Given the description of an element on the screen output the (x, y) to click on. 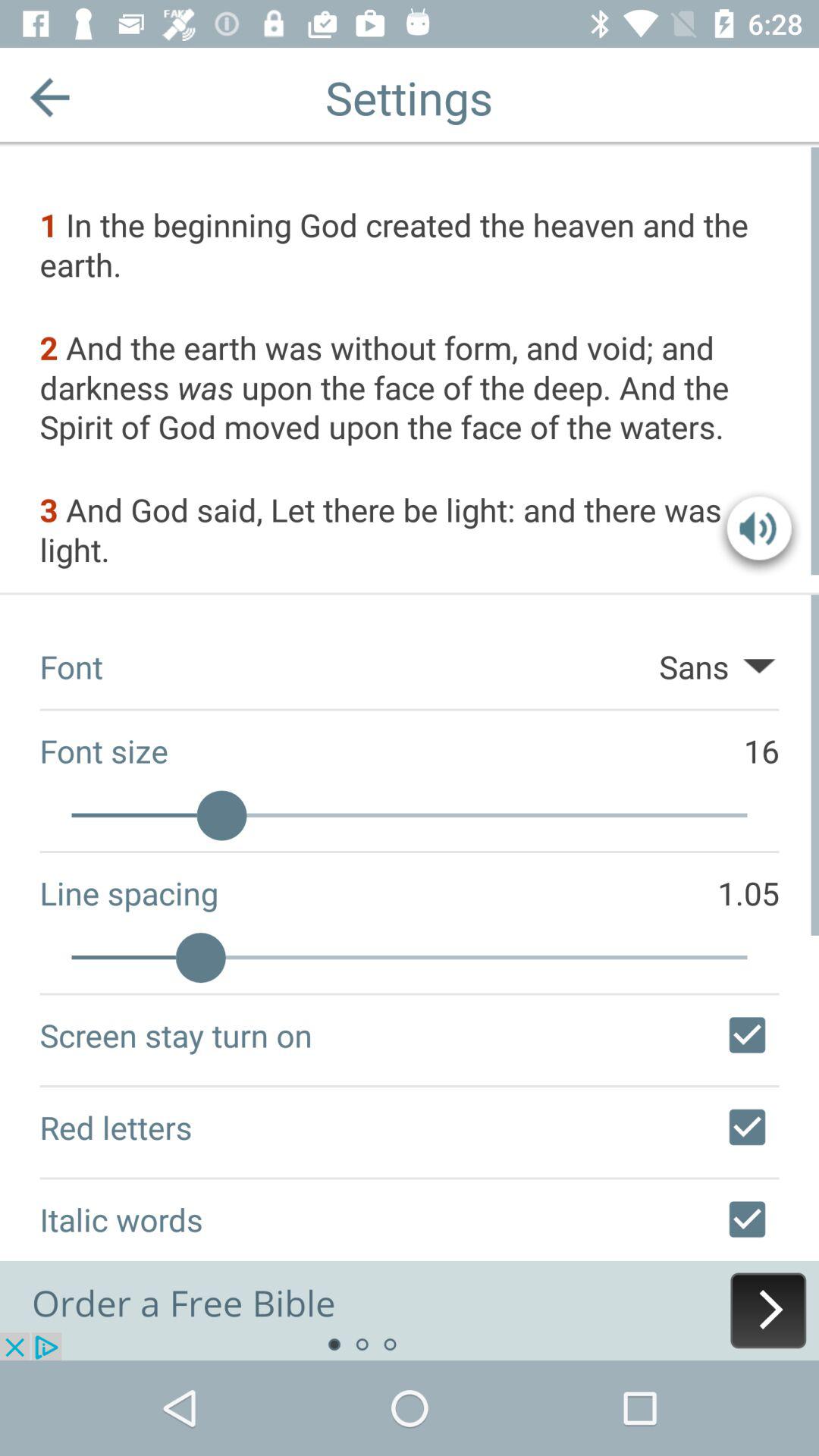
enable option (747, 1034)
